Given the description of an element on the screen output the (x, y) to click on. 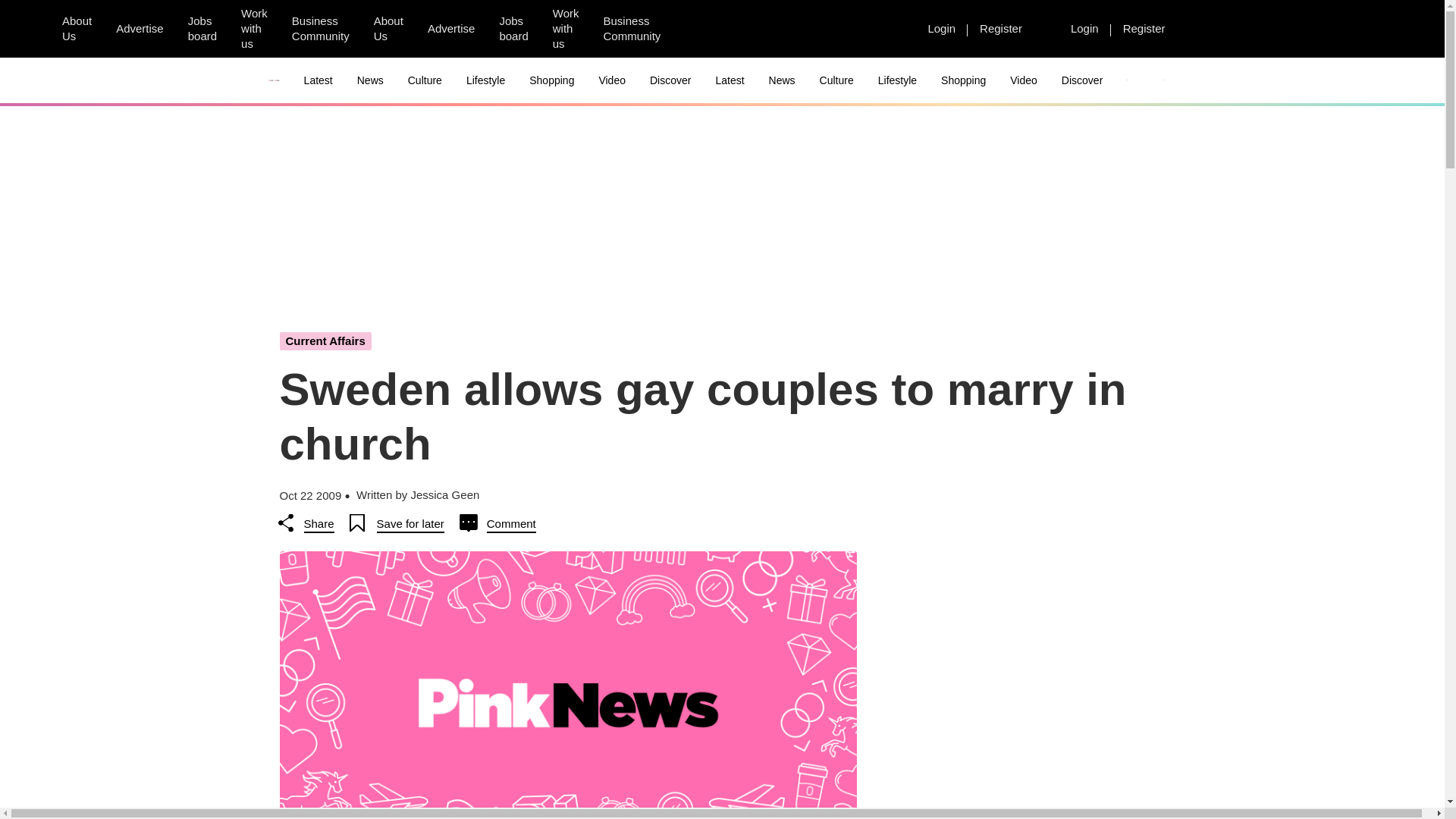
Jobs board (202, 28)
News (370, 79)
Latest (318, 79)
Business Community (631, 28)
Work with us (565, 28)
Follow PinkNews on LinkedIn (775, 28)
Advertise (450, 28)
Business Community (320, 28)
Login (1084, 28)
Register (1000, 28)
Register (1143, 28)
Jobs board (513, 28)
Work with us (253, 28)
Login (941, 28)
Advertise (139, 28)
